Given the description of an element on the screen output the (x, y) to click on. 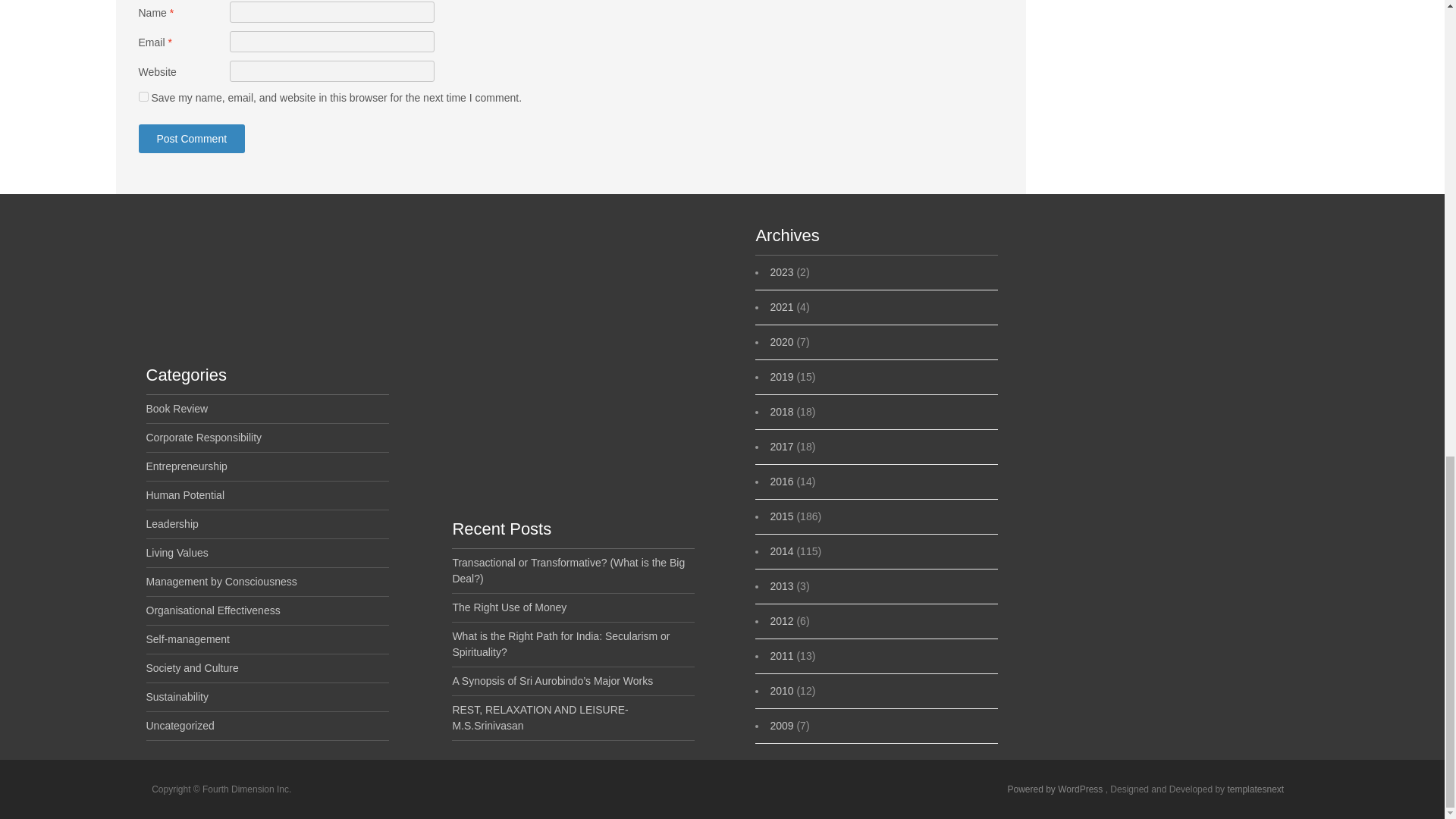
yes (143, 96)
Semantic Personal Publishing Platform (1056, 788)
Human Potential (184, 494)
Management by Consciousness (221, 581)
Book Review (176, 408)
Entrepreneurship (186, 466)
Corporate Responsibility (203, 437)
Leadership (171, 523)
Post Comment (191, 138)
Living Values (176, 552)
